Given the description of an element on the screen output the (x, y) to click on. 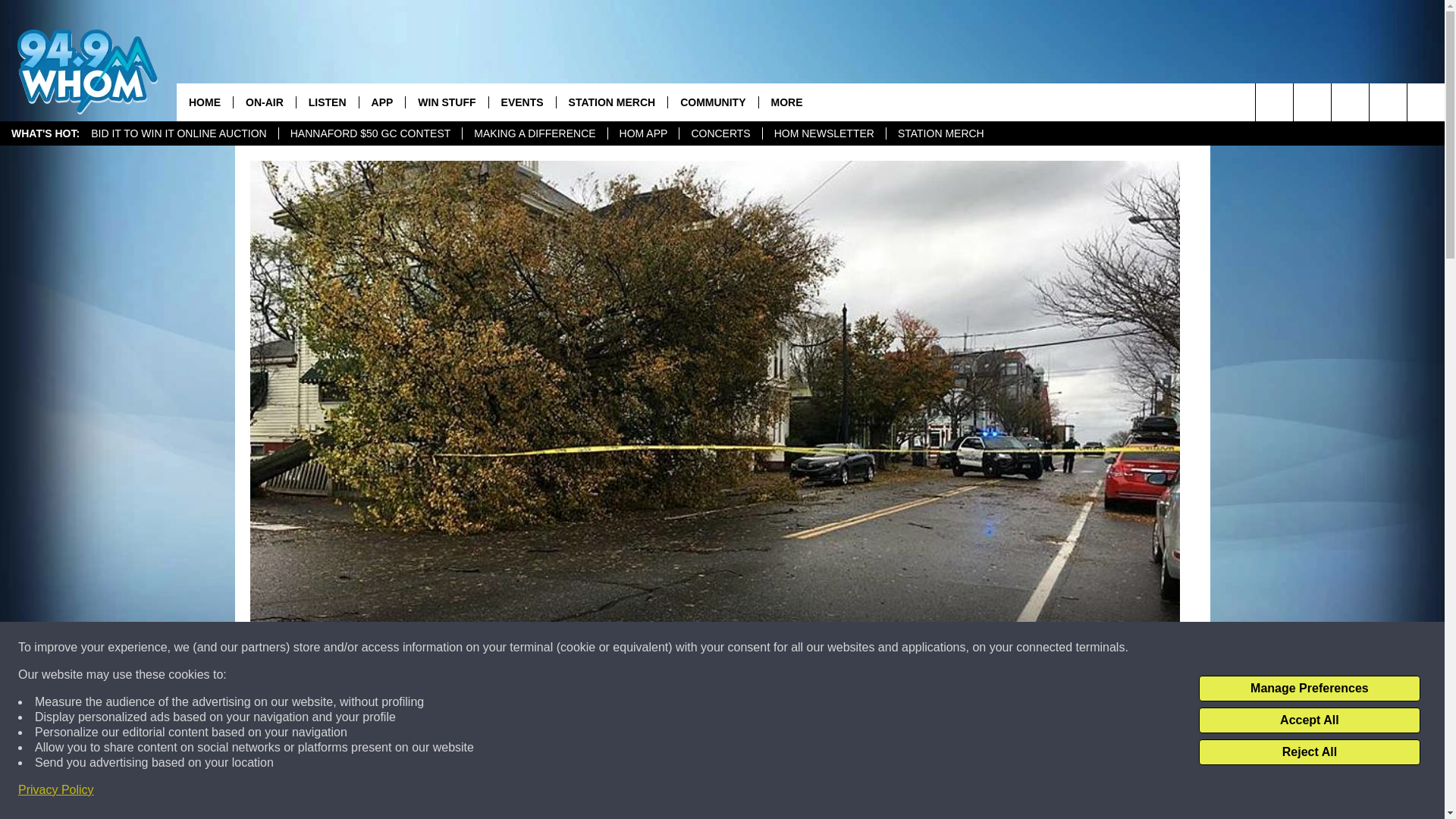
LISTEN (326, 102)
BID IT TO WIN IT ONLINE AUCTION (179, 133)
MAKING A DIFFERENCE (534, 133)
WIN STUFF (445, 102)
Reject All (1309, 751)
HOME (204, 102)
Share on Twitter (912, 791)
Accept All (1309, 720)
HOM APP (643, 133)
CONCERTS (719, 133)
ON-AIR (263, 102)
STATION MERCH (940, 133)
HOM NEWSLETTER (823, 133)
Privacy Policy (55, 789)
APP (382, 102)
